Given the description of an element on the screen output the (x, y) to click on. 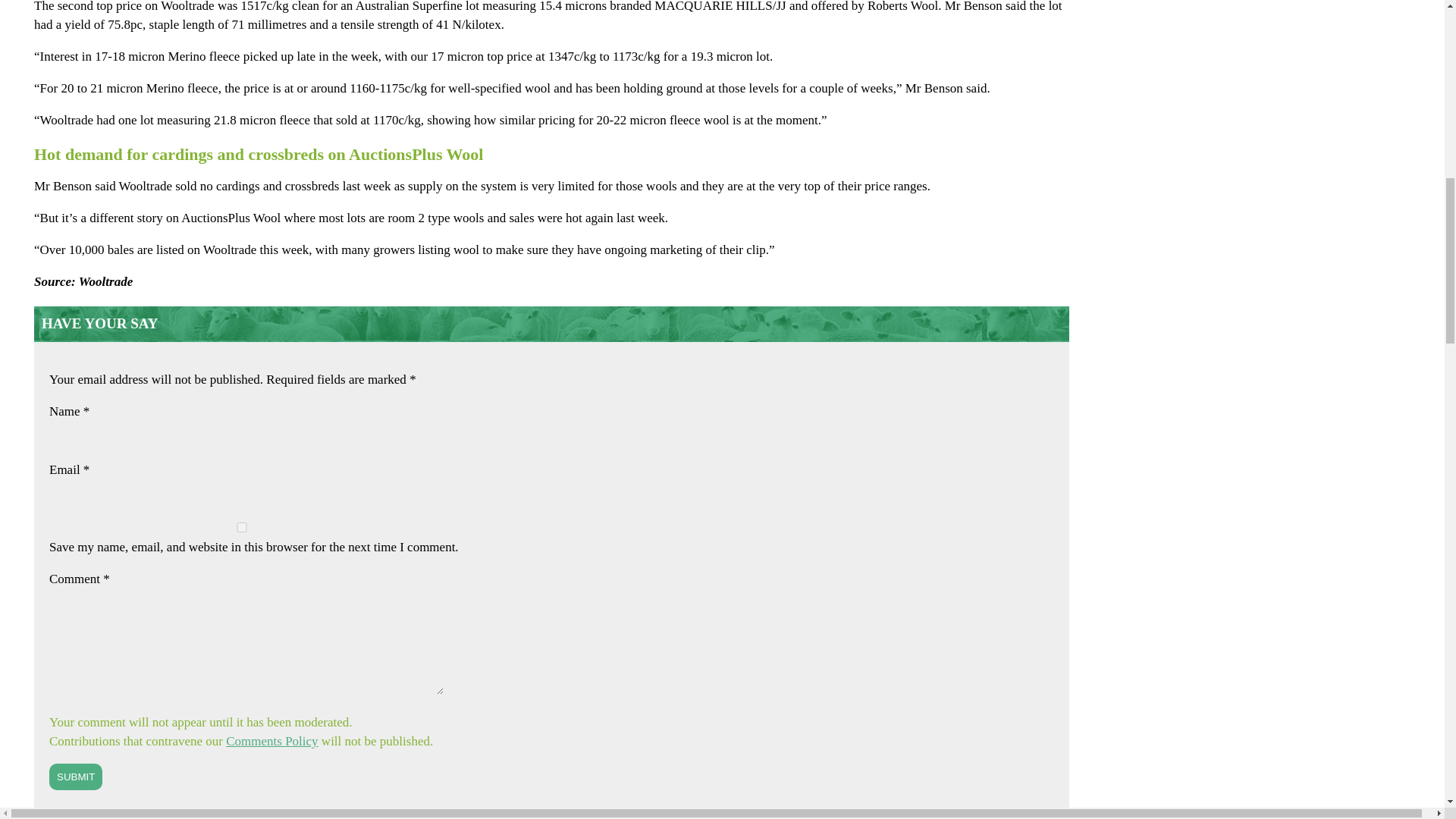
yes (241, 527)
3rd party ad content (1296, 80)
3rd party ad content (1296, 805)
3rd party ad content (1296, 680)
SUBMIT (75, 776)
3rd party ad content (1296, 271)
3rd party ad content (1296, 475)
